Given the description of an element on the screen output the (x, y) to click on. 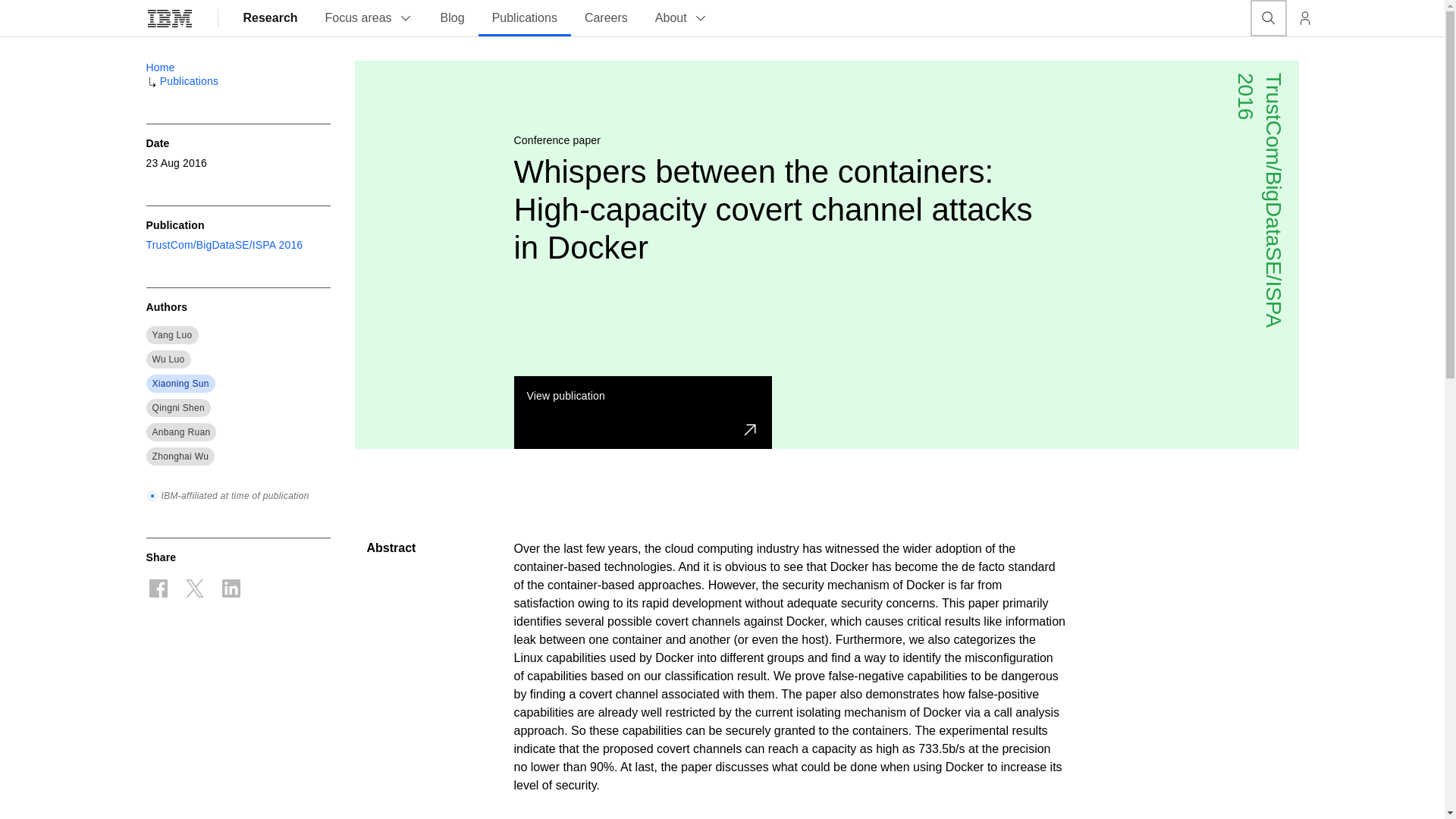
Wu Luo (167, 358)
Anbang Ruan (180, 431)
Yang Luo (171, 335)
Xiaoning Sun (179, 383)
Qingni Shen (178, 408)
Zhonghai Wu (179, 456)
